Given the description of an element on the screen output the (x, y) to click on. 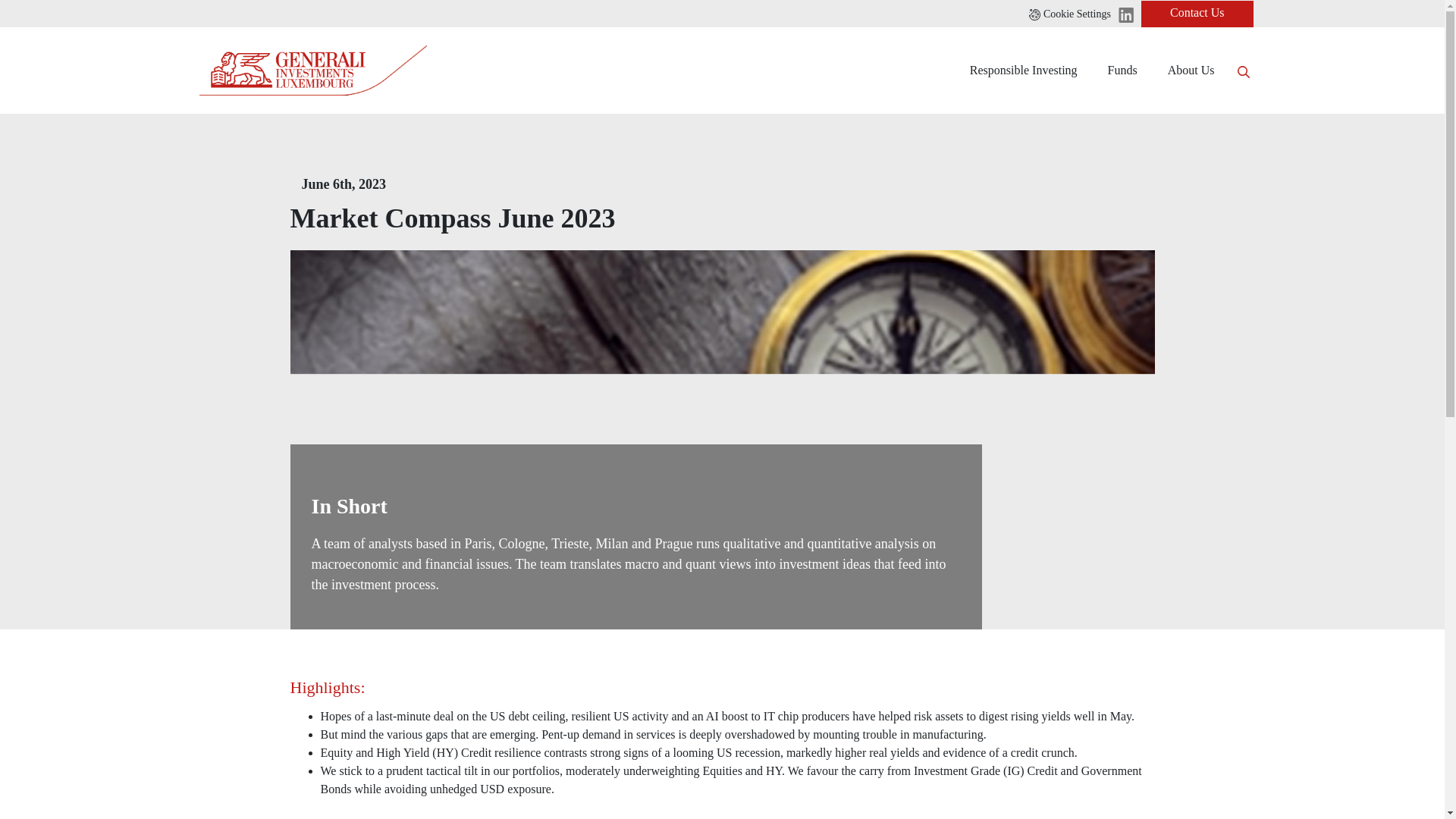
Responsible Investing (1024, 70)
Funds (1123, 70)
Contact Us (1197, 13)
About Us (1191, 70)
